Given the description of an element on the screen output the (x, y) to click on. 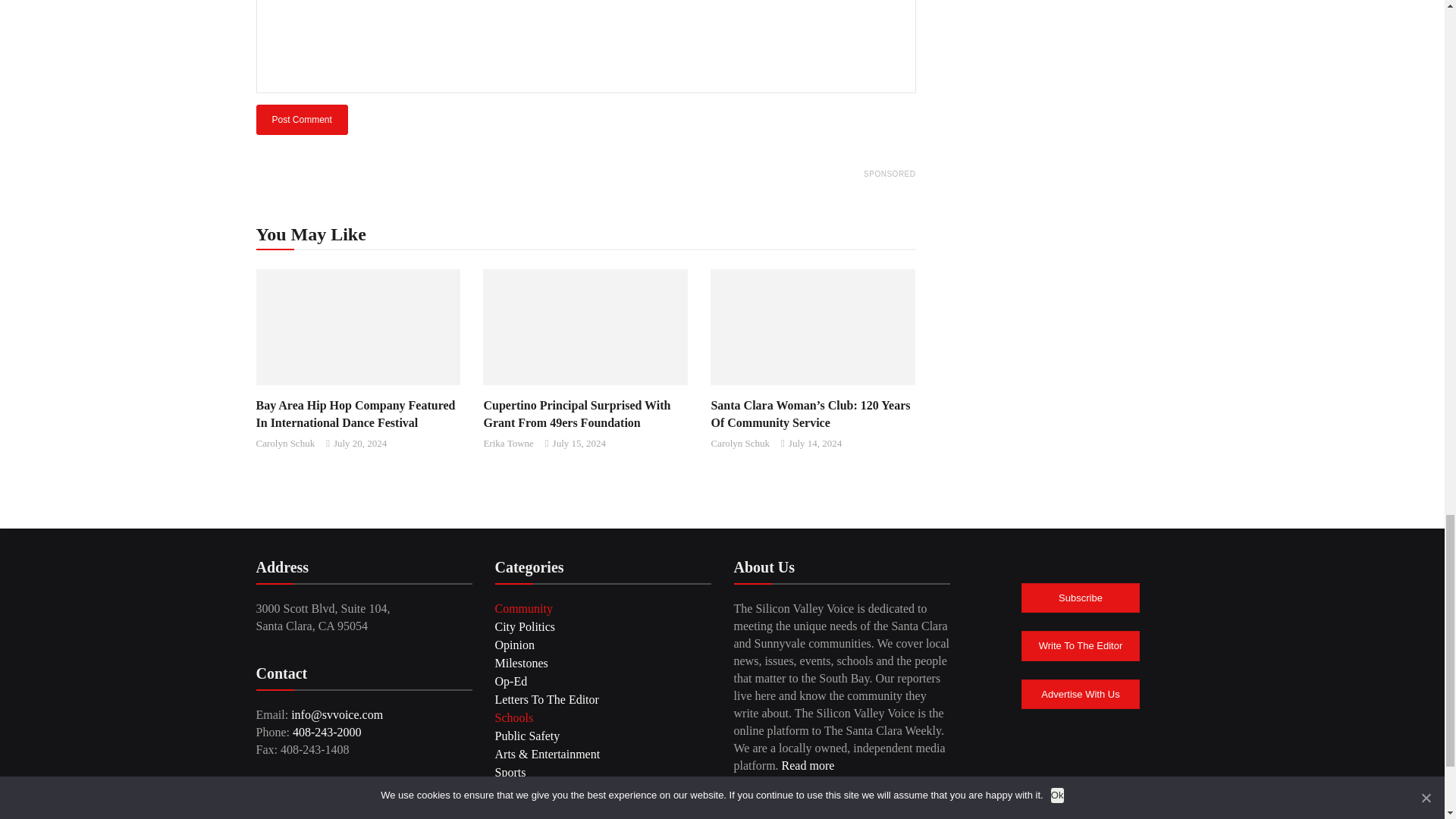
Post Comment (301, 119)
